Given the description of an element on the screen output the (x, y) to click on. 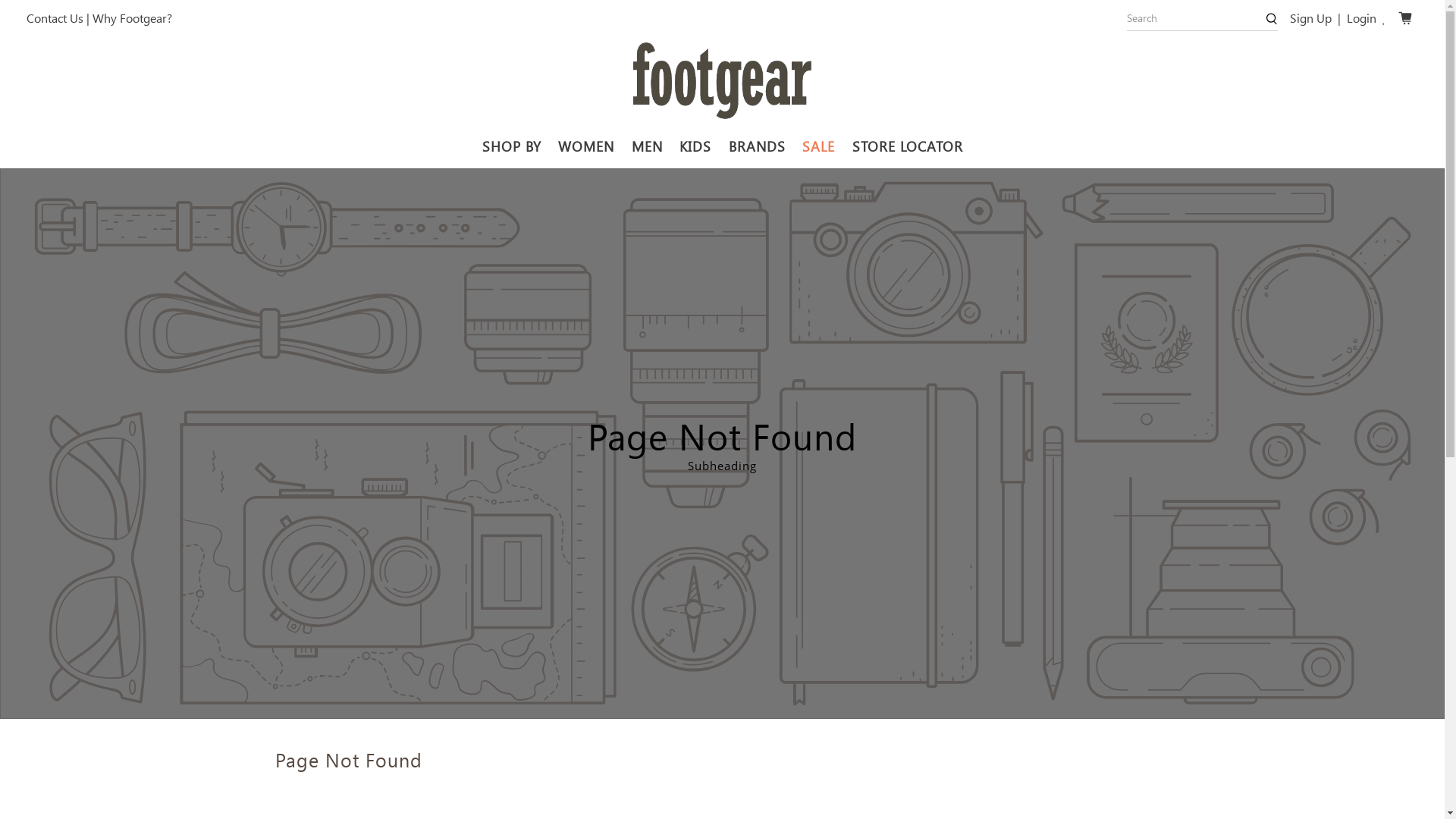
Footgear Element type: hover (722, 80)
STORE LOCATOR Element type: text (907, 146)
Sign Up Element type: text (1310, 18)
MEN Element type: text (646, 146)
WOMEN Element type: text (586, 146)
SALE Element type: text (818, 146)
BRANDS Element type: text (756, 146)
Login Element type: text (1361, 18)
Contact Us Element type: text (54, 17)
SHOP BY Element type: text (511, 146)
Why Footgear? Element type: text (132, 17)
KIDS Element type: text (695, 146)
